Given the description of an element on the screen output the (x, y) to click on. 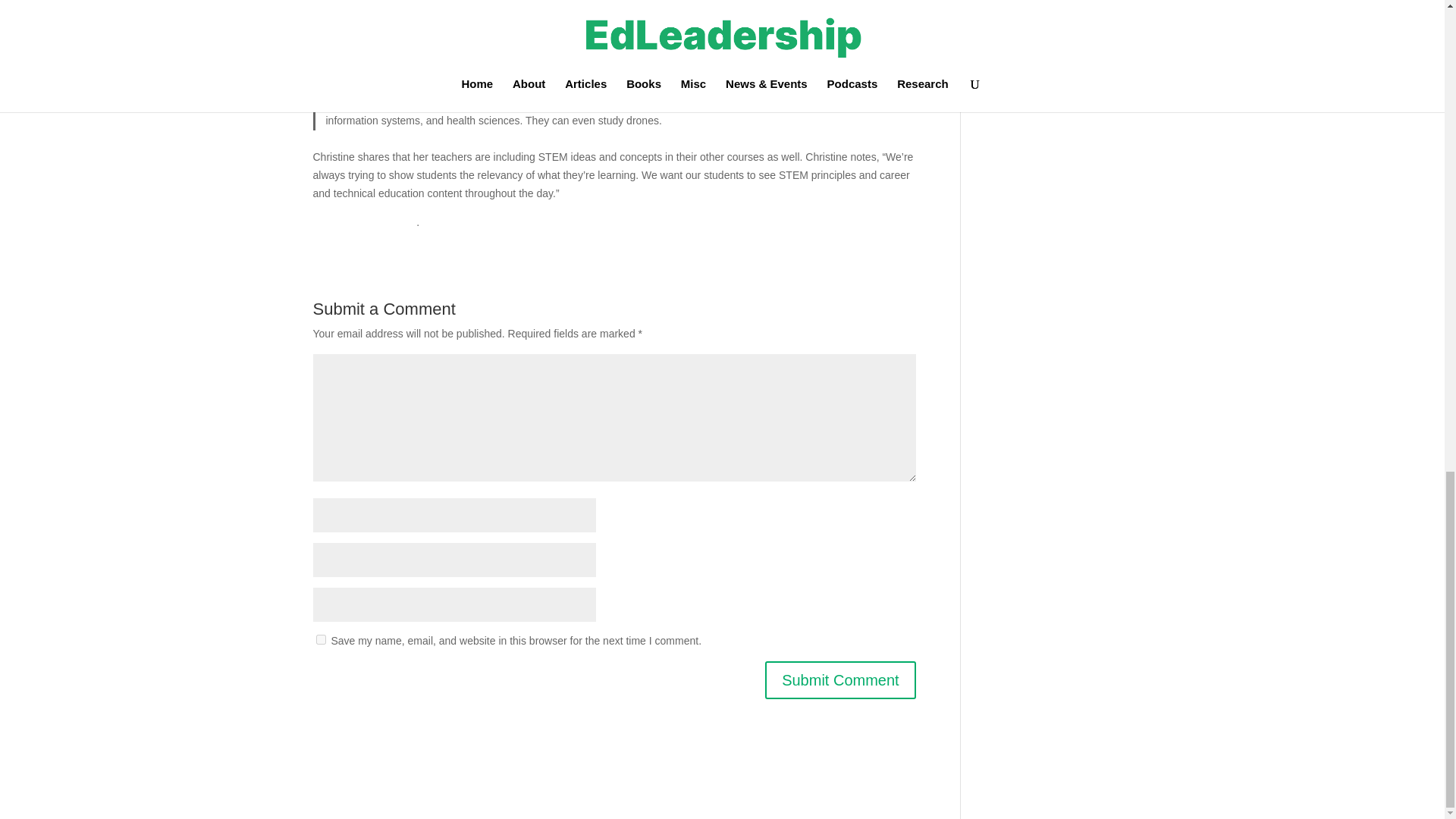
Submit Comment (840, 679)
yes (319, 639)
Submit Comment (840, 679)
Learn more at NASSP (364, 222)
